Given the description of an element on the screen output the (x, y) to click on. 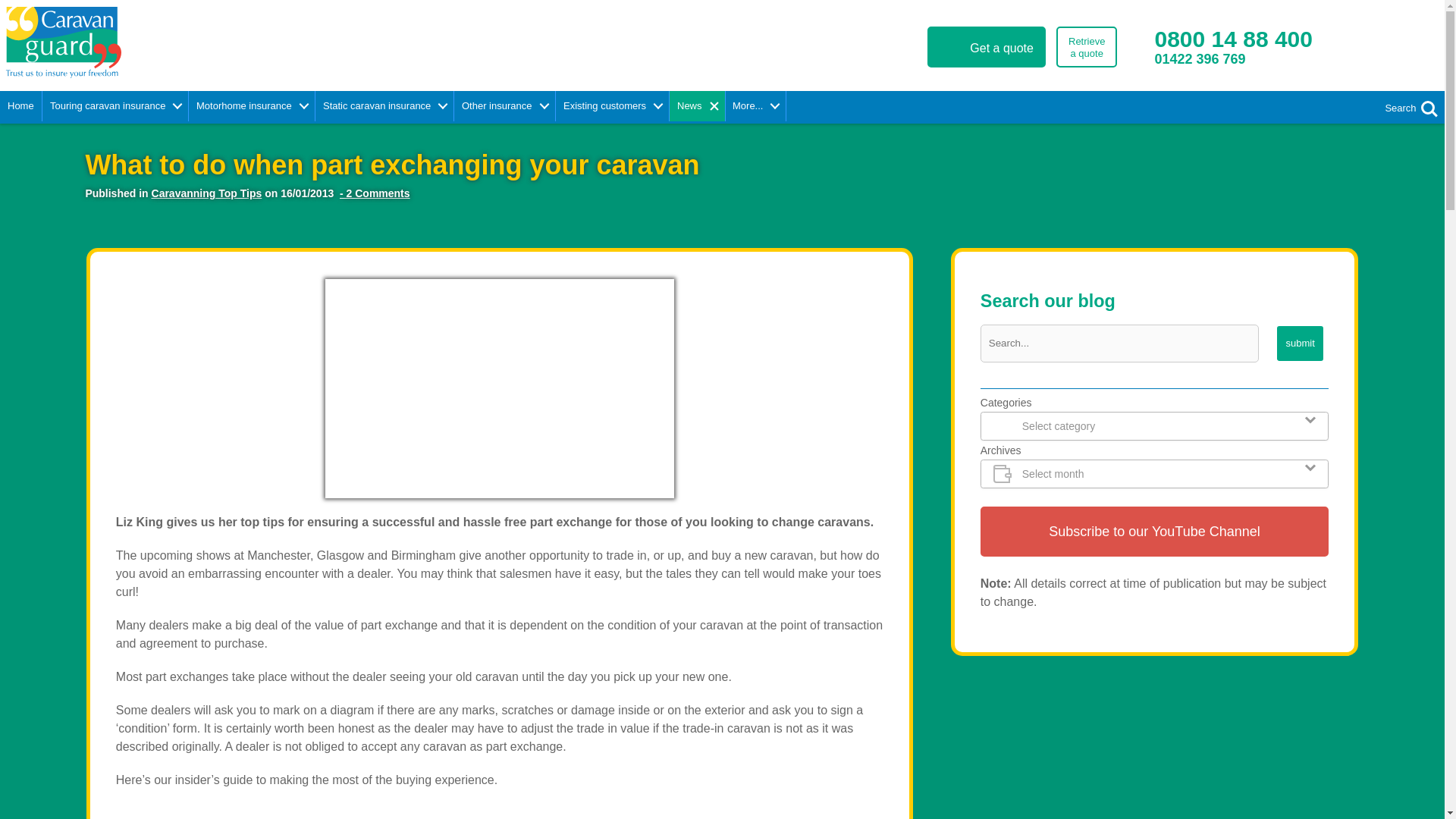
submit (1299, 343)
quote (986, 46)
Touring caravan insurance (115, 105)
caravan part exchange (1086, 46)
0800 14 88 400 (499, 388)
Caravan Guard (1233, 38)
01422 396 769 (221, 42)
Home (1219, 66)
